Given the description of an element on the screen output the (x, y) to click on. 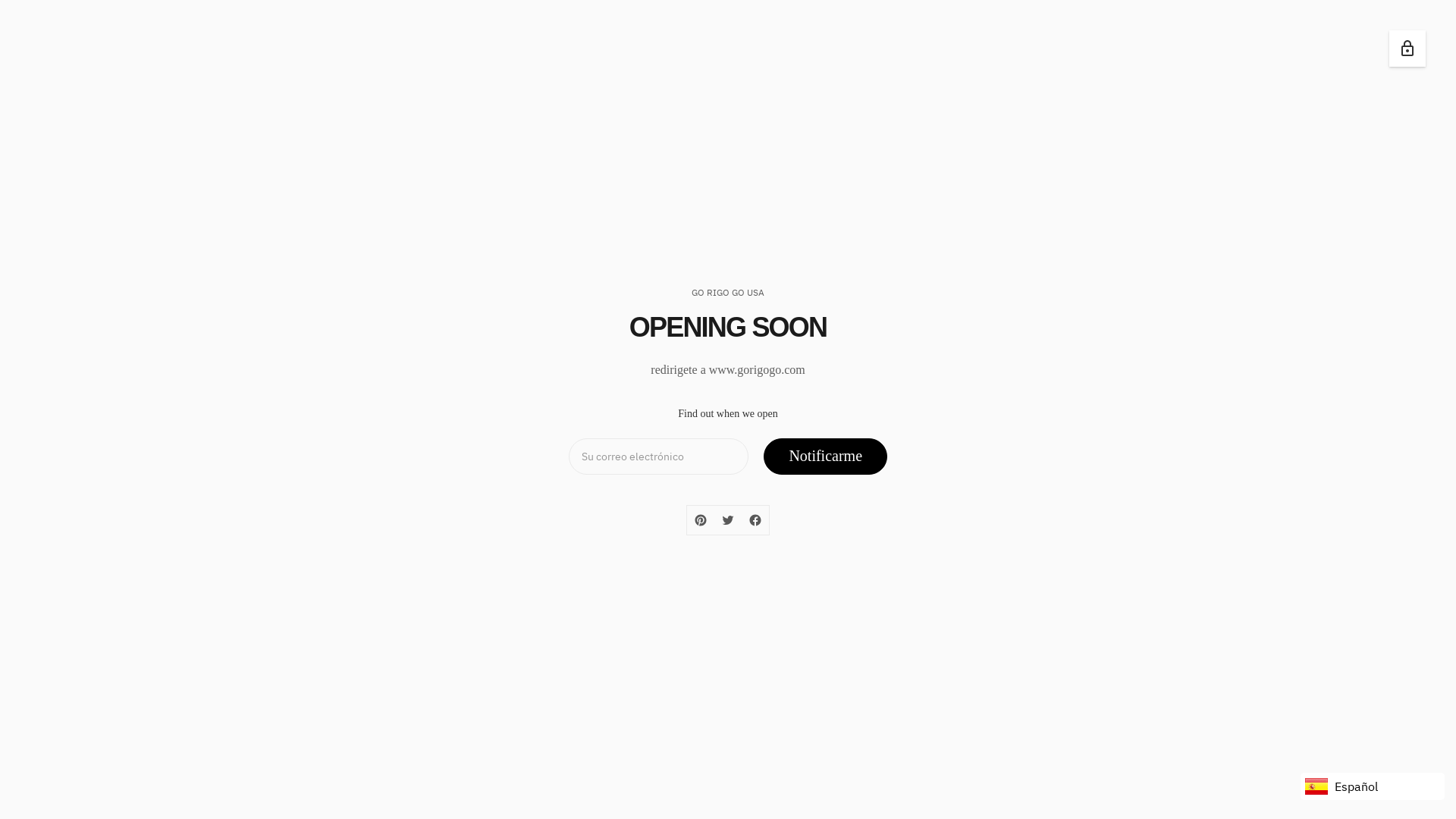
Share to Pinterest Element type: hover (700, 520)
Share to Facebook Element type: hover (754, 520)
Notificarme Element type: text (825, 456)
Share to twitter Element type: hover (727, 520)
